Given the description of an element on the screen output the (x, y) to click on. 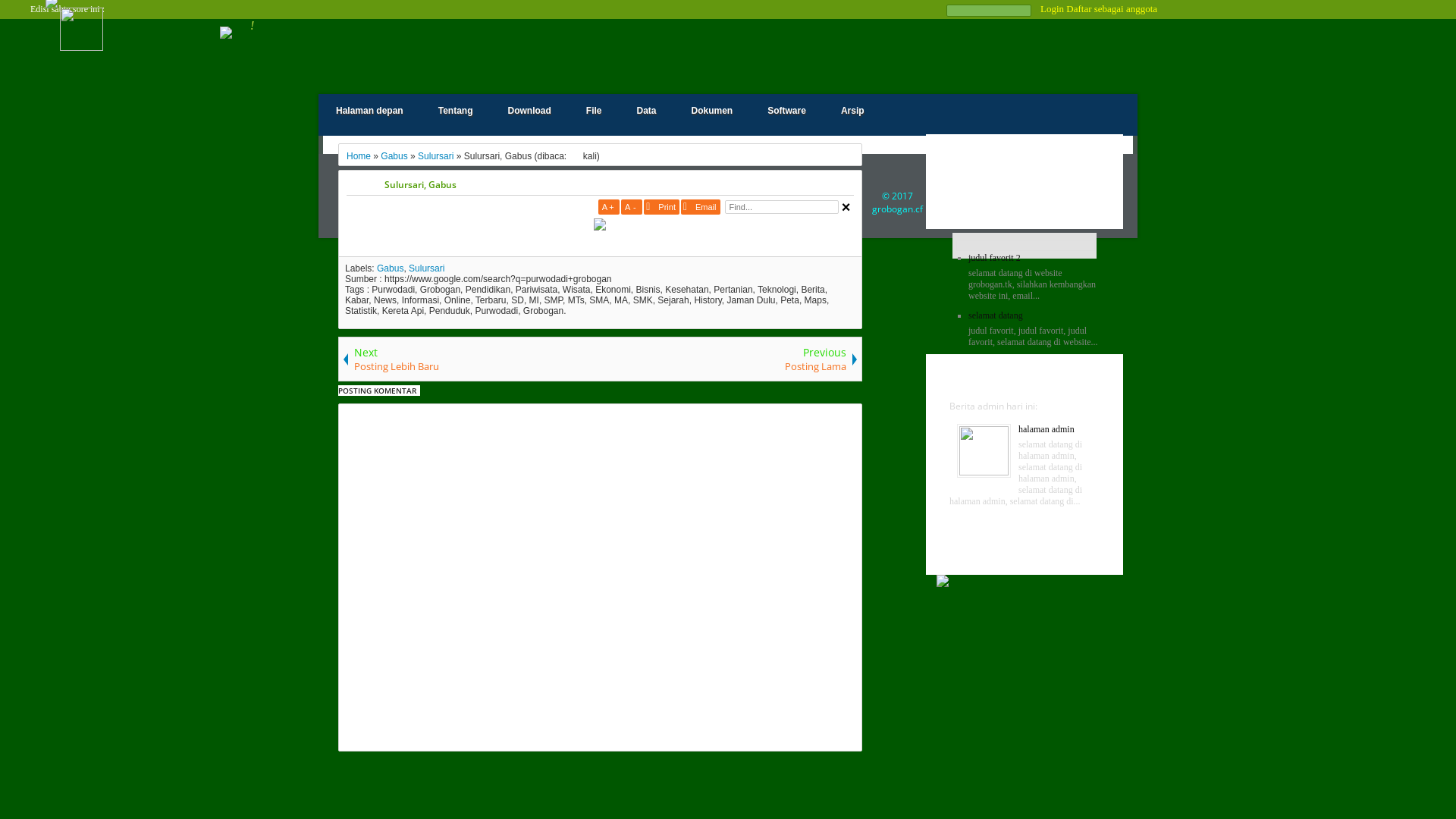
Sulursari Element type: text (435, 155)
Home Element type: text (358, 155)
Previous
Posting Lama Element type: text (729, 358)
Email Element type: text (700, 206)
File Element type: text (594, 111)
halaman admin Element type: text (1046, 428)
Print Element type: text (661, 206)
Download Element type: text (528, 111)
Sulursari Element type: text (426, 268)
Software Element type: text (786, 111)
Arsip Element type: text (852, 111)
A+ Element type: text (608, 206)
selamat datang Element type: text (995, 315)
Sulursari, Gabus Element type: text (618, 184)
Halaman Admin Element type: text (1024, 378)
Data Element type: text (646, 111)
Tentang Element type: text (455, 111)
Gabus Element type: text (393, 155)
Gabus Element type: text (389, 268)
Halaman lklan Element type: text (1024, 551)
judul favorit 2 Element type: text (994, 257)
Favorit Element type: text (1024, 205)
A- Element type: text (631, 206)
Halaman depan Element type: text (369, 111)
Dokumen Element type: text (712, 111)
Next
Posting Lebih Baru Element type: text (468, 358)
